Given the description of an element on the screen output the (x, y) to click on. 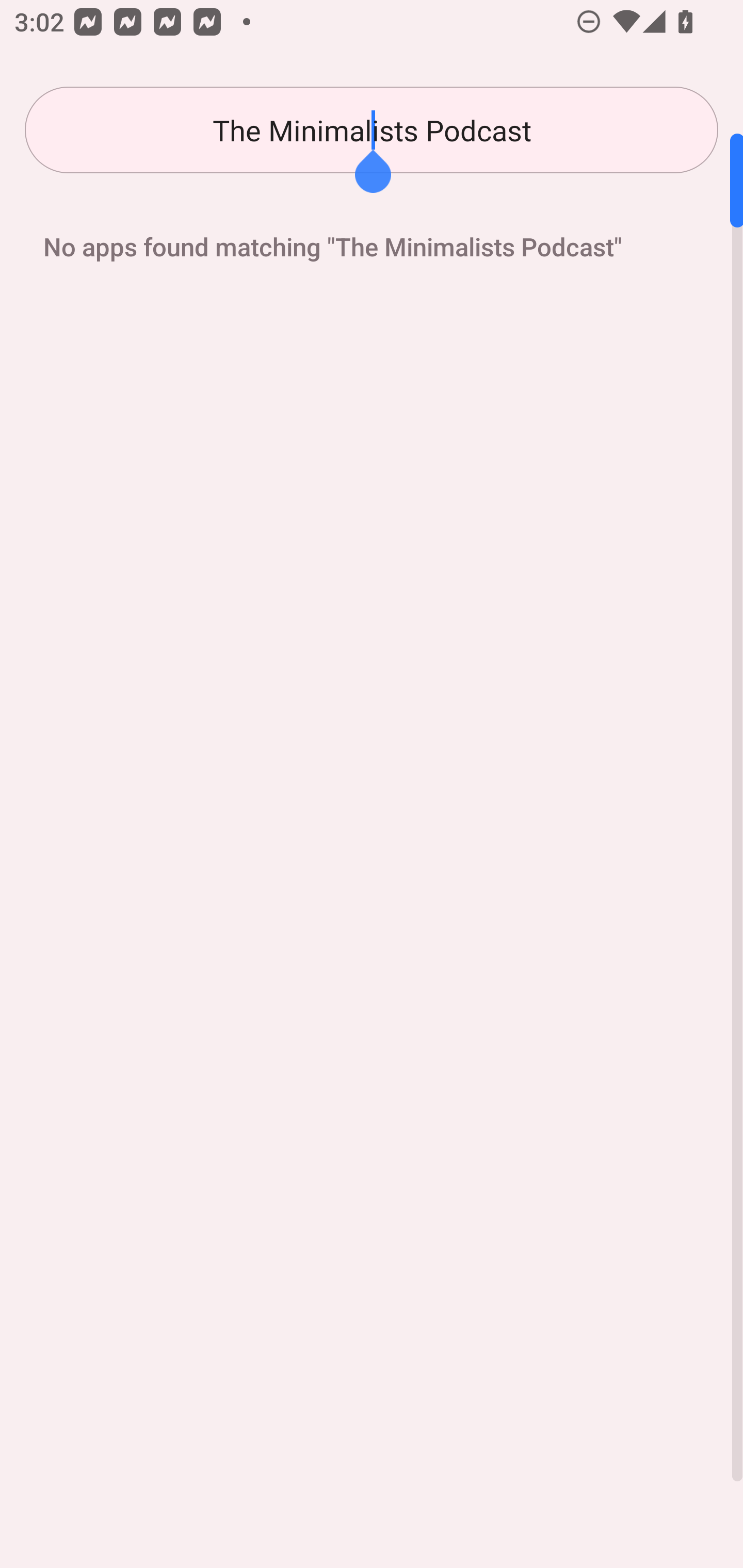
The Minimalists Podcast (371, 130)
